Given the description of an element on the screen output the (x, y) to click on. 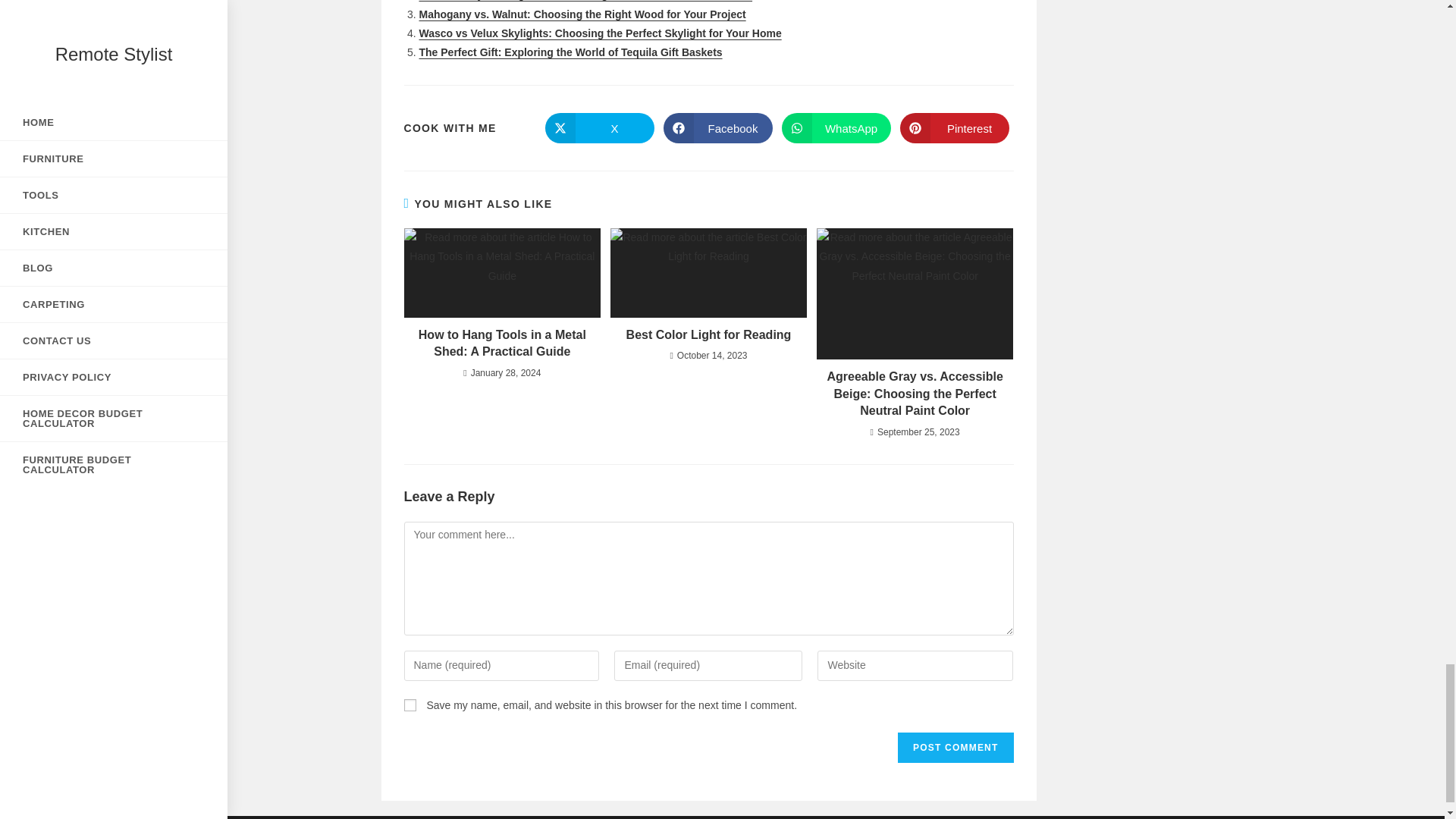
Post Comment (955, 747)
yes (408, 705)
